Given the description of an element on the screen output the (x, y) to click on. 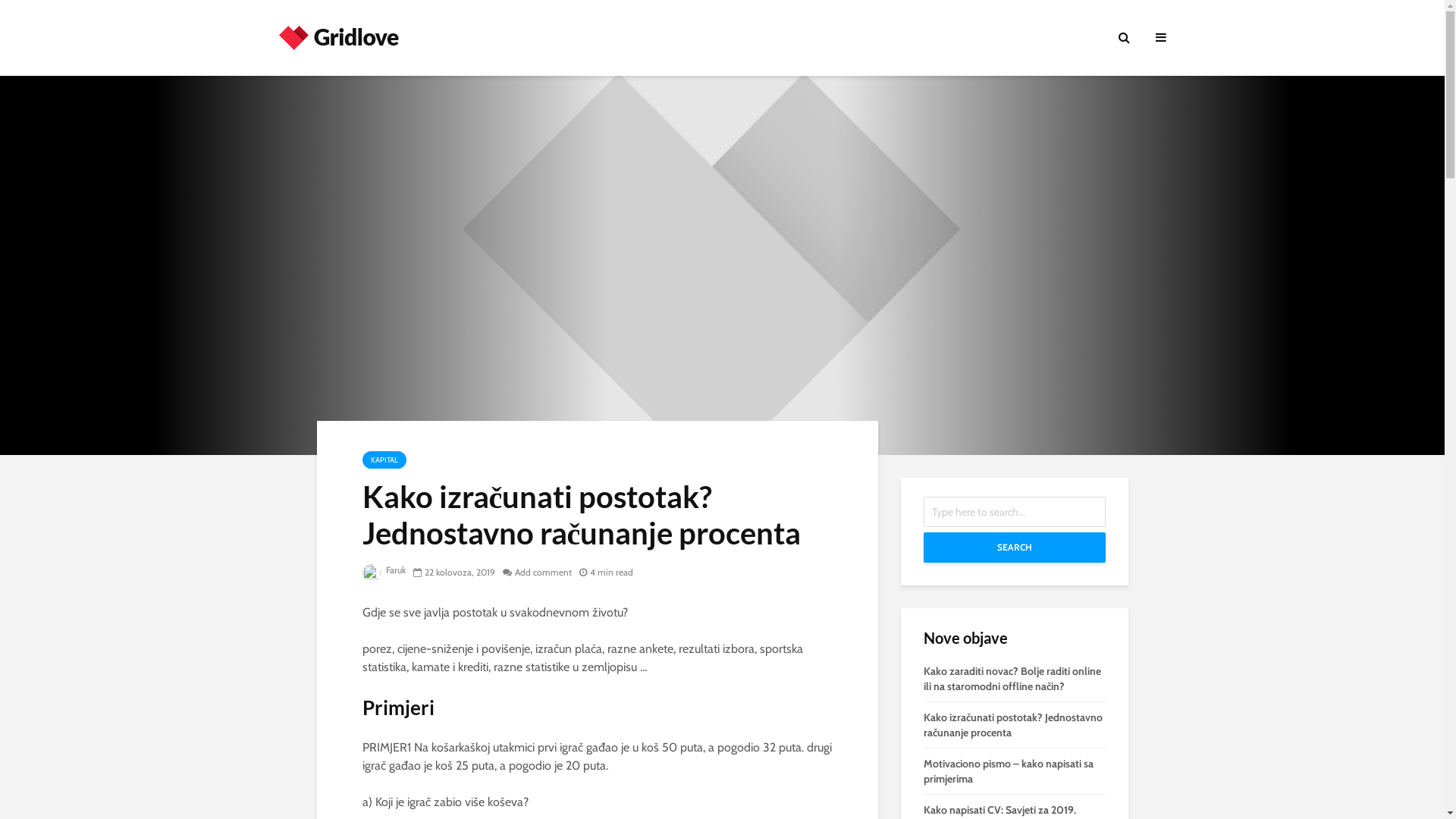
Faruk Element type: text (383, 569)
SEARCH Element type: text (1014, 547)
Add comment Element type: text (536, 571)
KAPITAL Element type: text (384, 459)
